Given the description of an element on the screen output the (x, y) to click on. 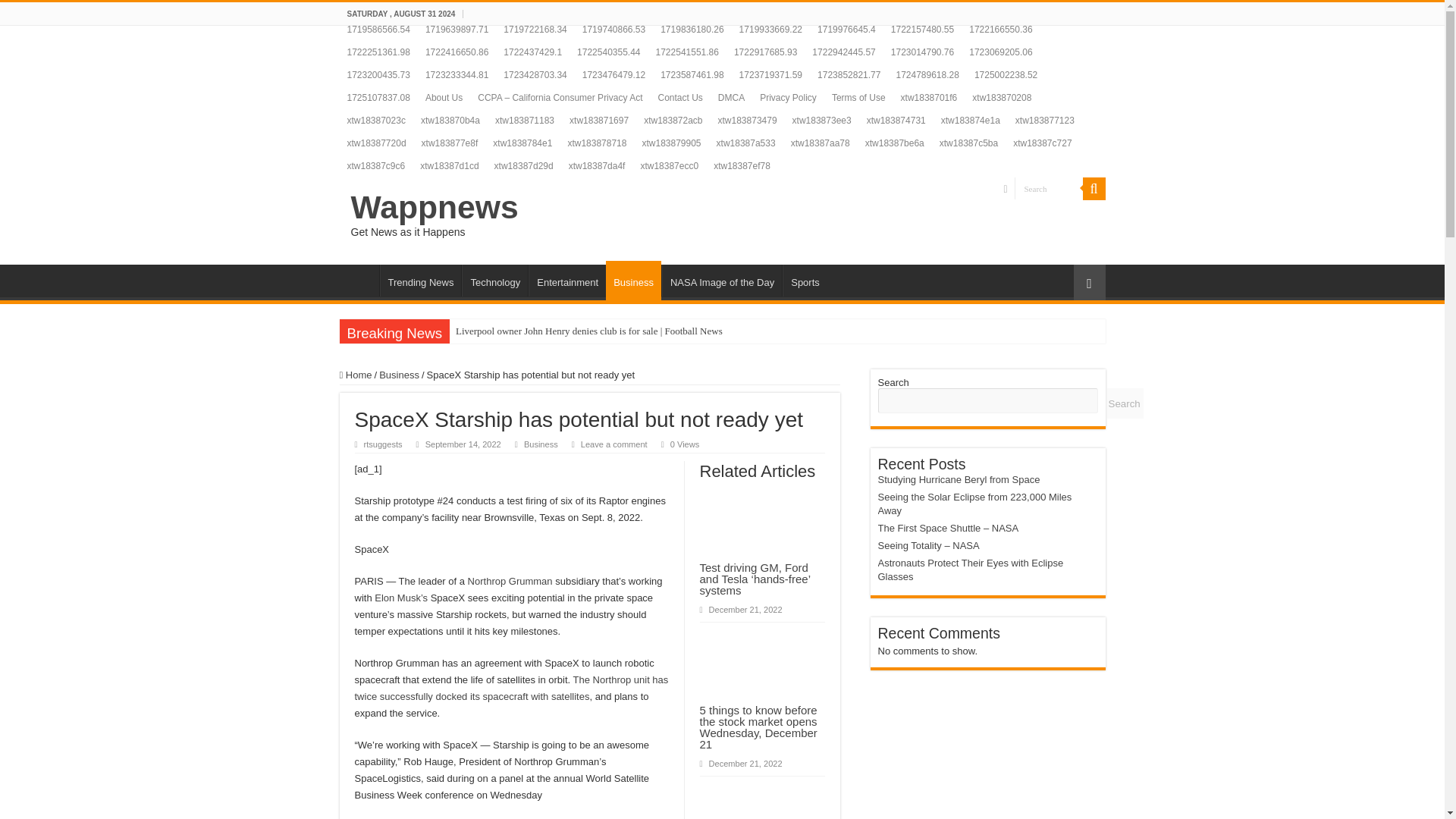
1722251361.98 (378, 51)
1722166550.36 (999, 29)
1725002238.52 (1005, 74)
Privacy Policy (788, 97)
1722540355.44 (608, 51)
1722437429.1 (532, 51)
1724789618.28 (927, 74)
About Us (443, 97)
xtw18387023c (376, 119)
Search (1048, 188)
